Given the description of an element on the screen output the (x, y) to click on. 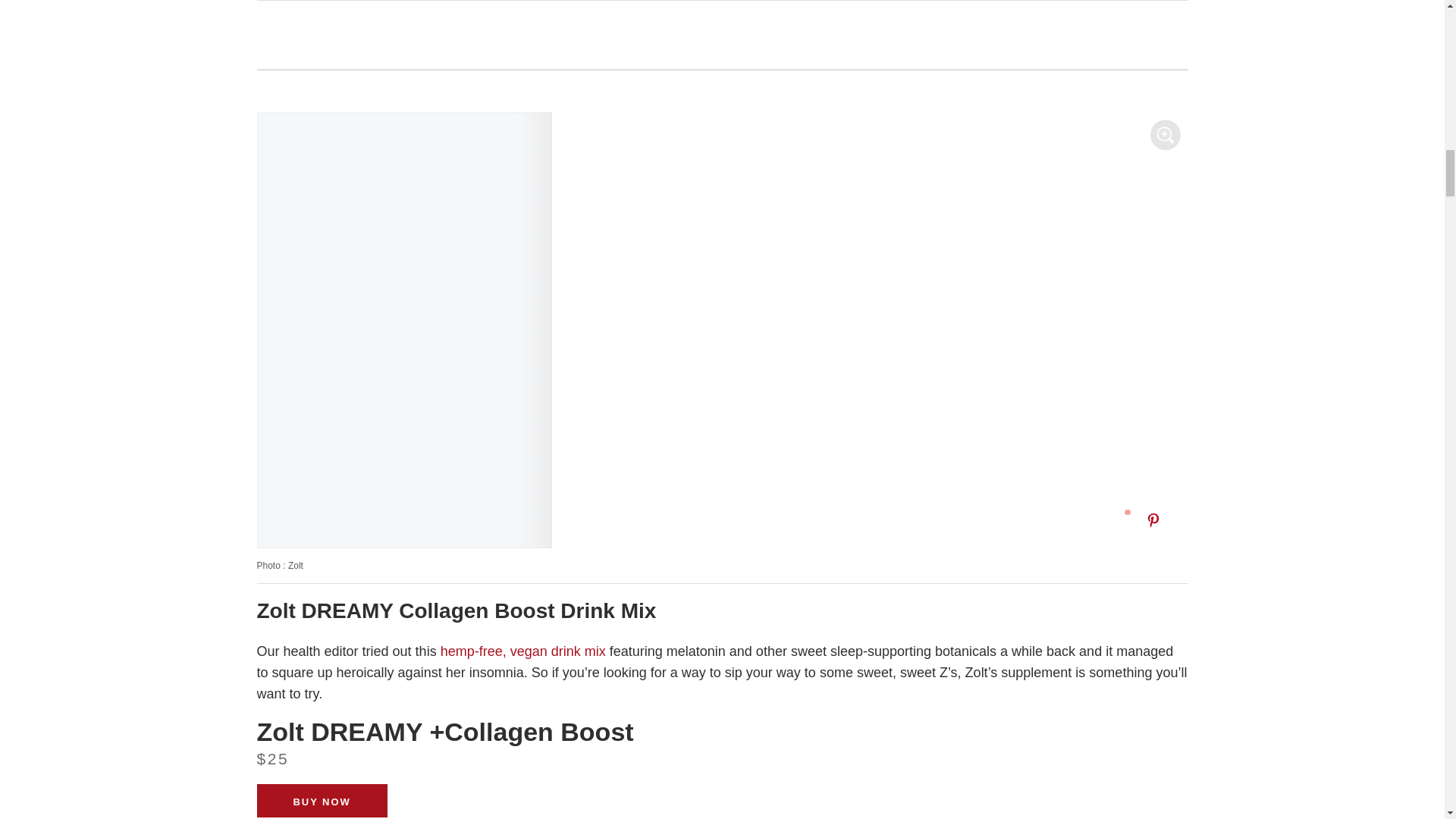
Magnifying Glass Light (1164, 135)
